Given the description of an element on the screen output the (x, y) to click on. 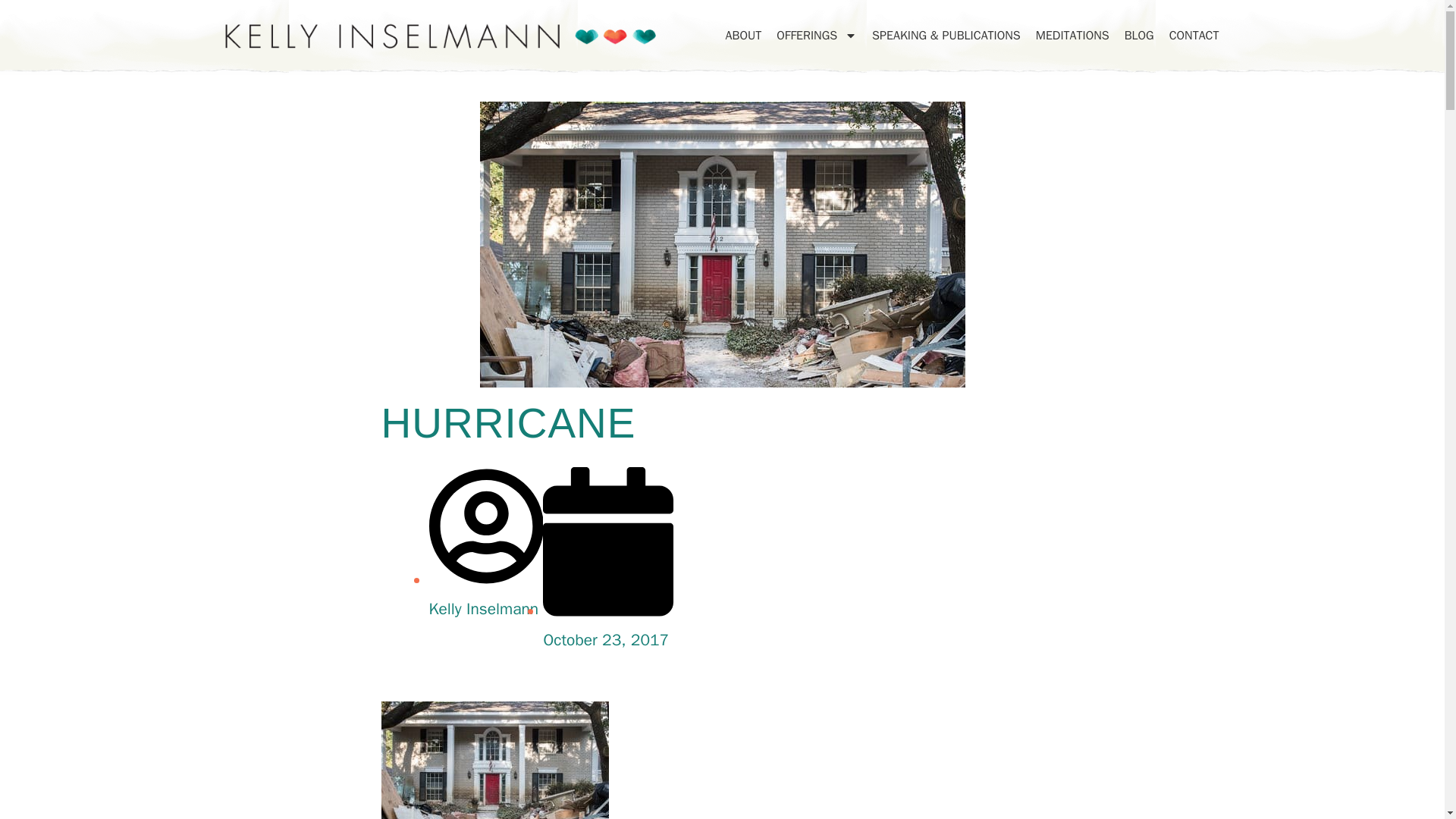
ABOUT (743, 35)
OFFERINGS (816, 35)
CONTACT (1194, 35)
October 23, 2017 (607, 625)
BLOG (1138, 35)
MEDITATIONS (1071, 35)
Kelly Inselmann (486, 594)
